Given the description of an element on the screen output the (x, y) to click on. 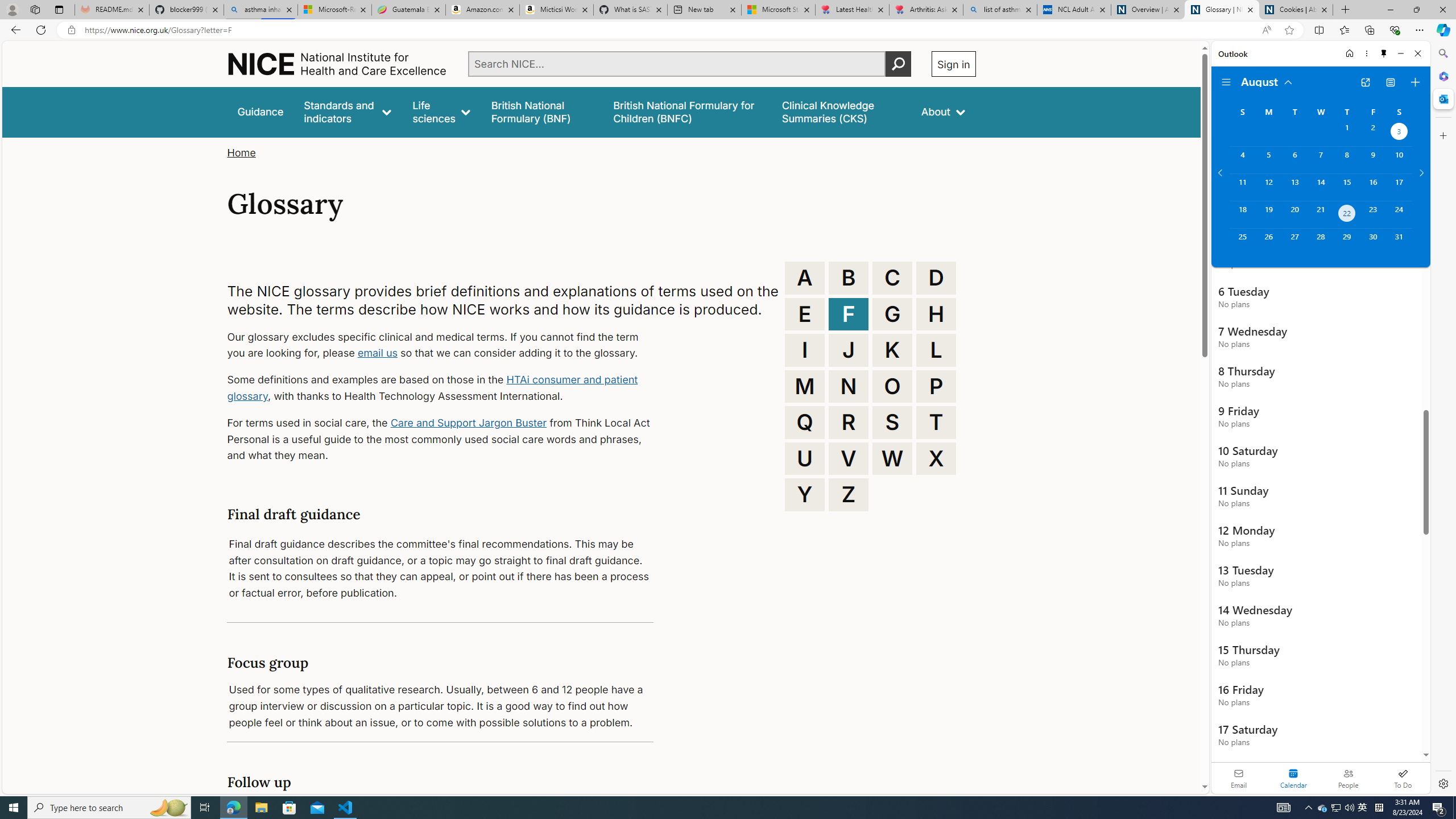
U (804, 458)
T (935, 422)
P (935, 385)
View Switcher. Current view is Agenda view (1390, 82)
Tuesday, August 6, 2024.  (1294, 159)
Friday, August 2, 2024.  (1372, 132)
false (841, 111)
Thursday, August 1, 2024.  (1346, 132)
M (804, 385)
